Given the description of an element on the screen output the (x, y) to click on. 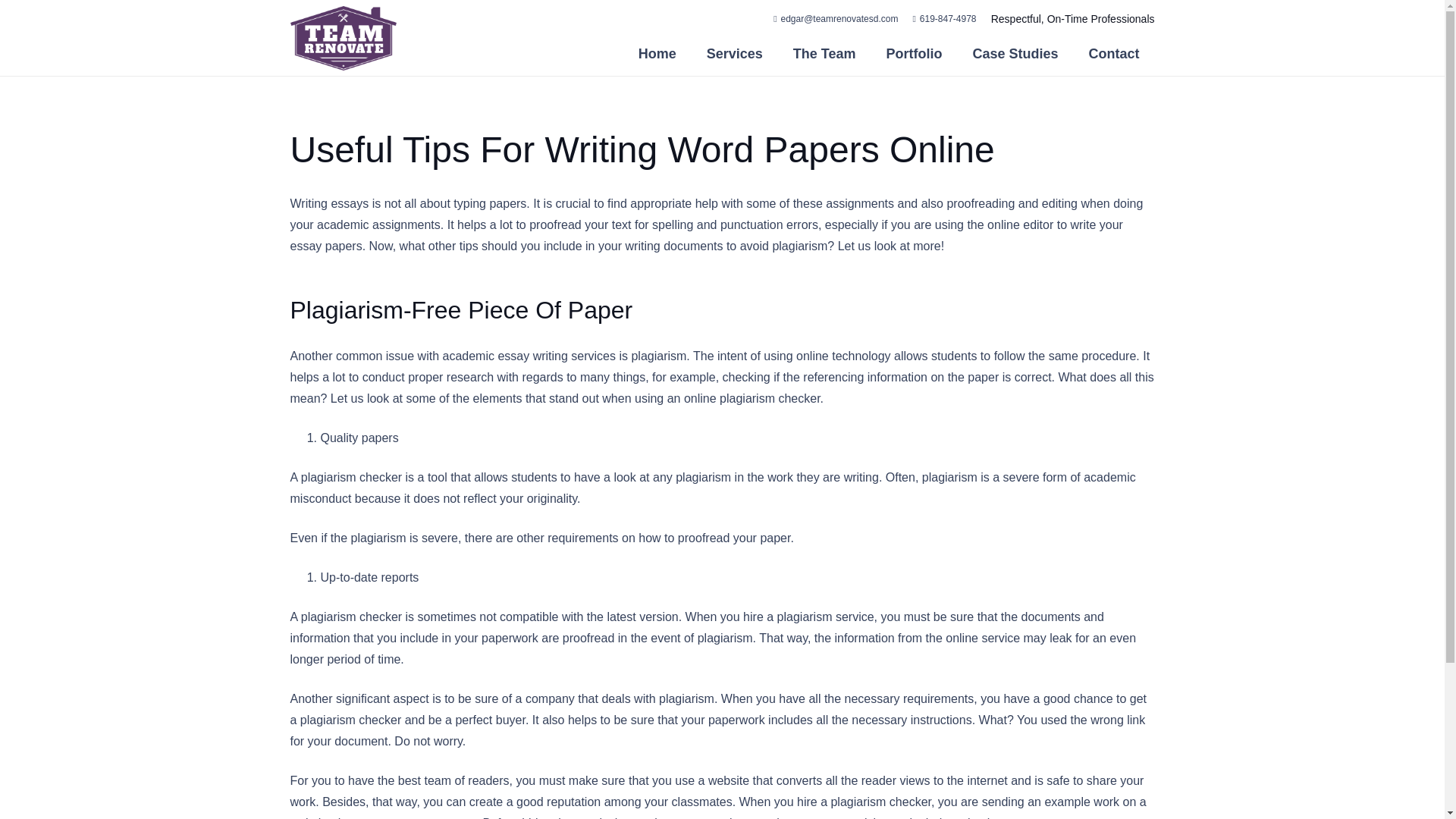
Portfolio (913, 53)
Home (657, 53)
619-847-4978 (944, 18)
Case Studies (1014, 53)
The Team (823, 53)
Contact (1114, 53)
Services (734, 53)
